Given the description of an element on the screen output the (x, y) to click on. 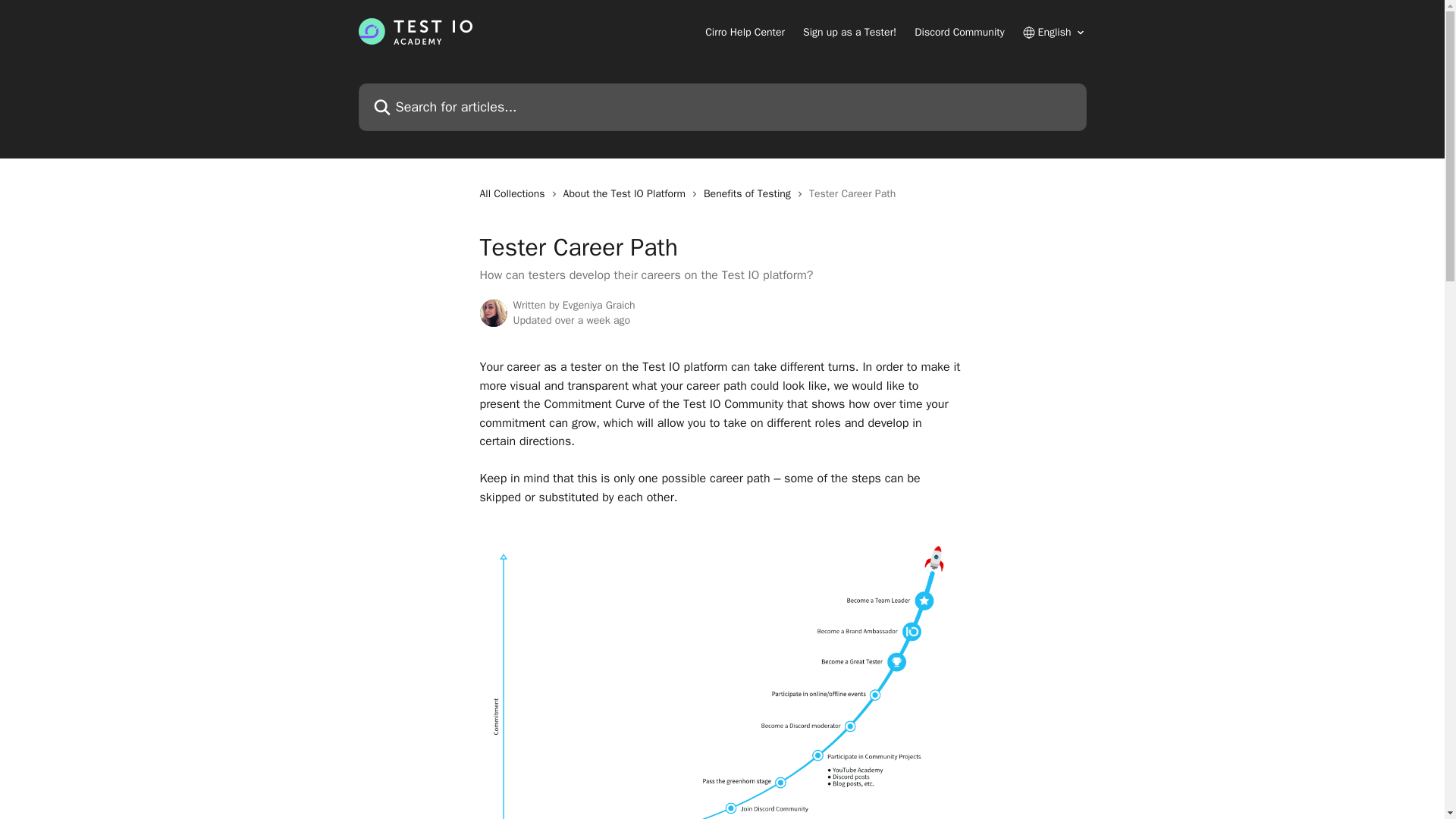
About the Test IO Platform (627, 193)
Cirro Help Center (744, 32)
Benefits of Testing (749, 193)
Discord Community (959, 32)
Sign up as a Tester! (849, 32)
All Collections (514, 193)
